Given the description of an element on the screen output the (x, y) to click on. 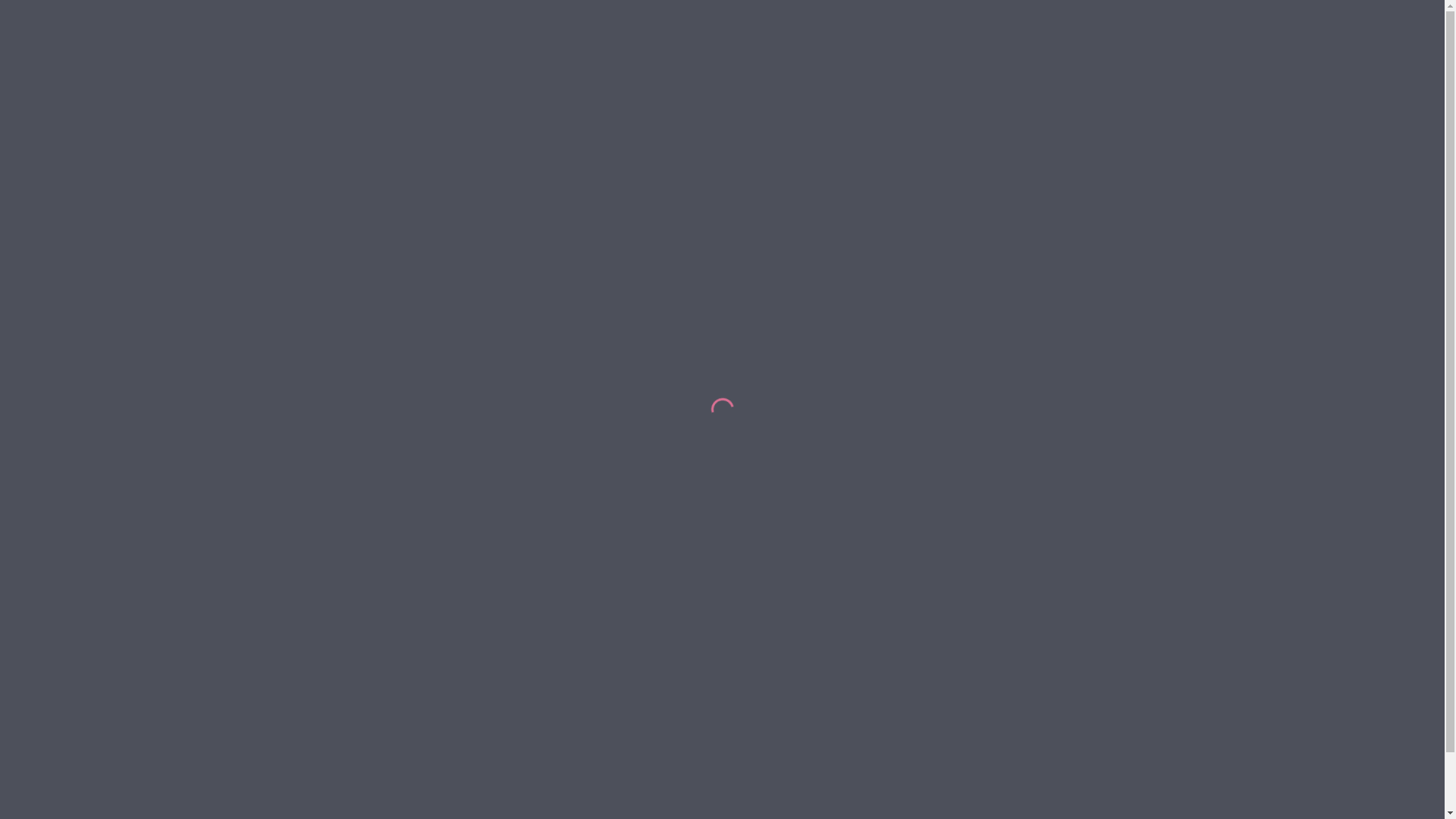
loading Element type: hover (717, 405)
